Given the description of an element on the screen output the (x, y) to click on. 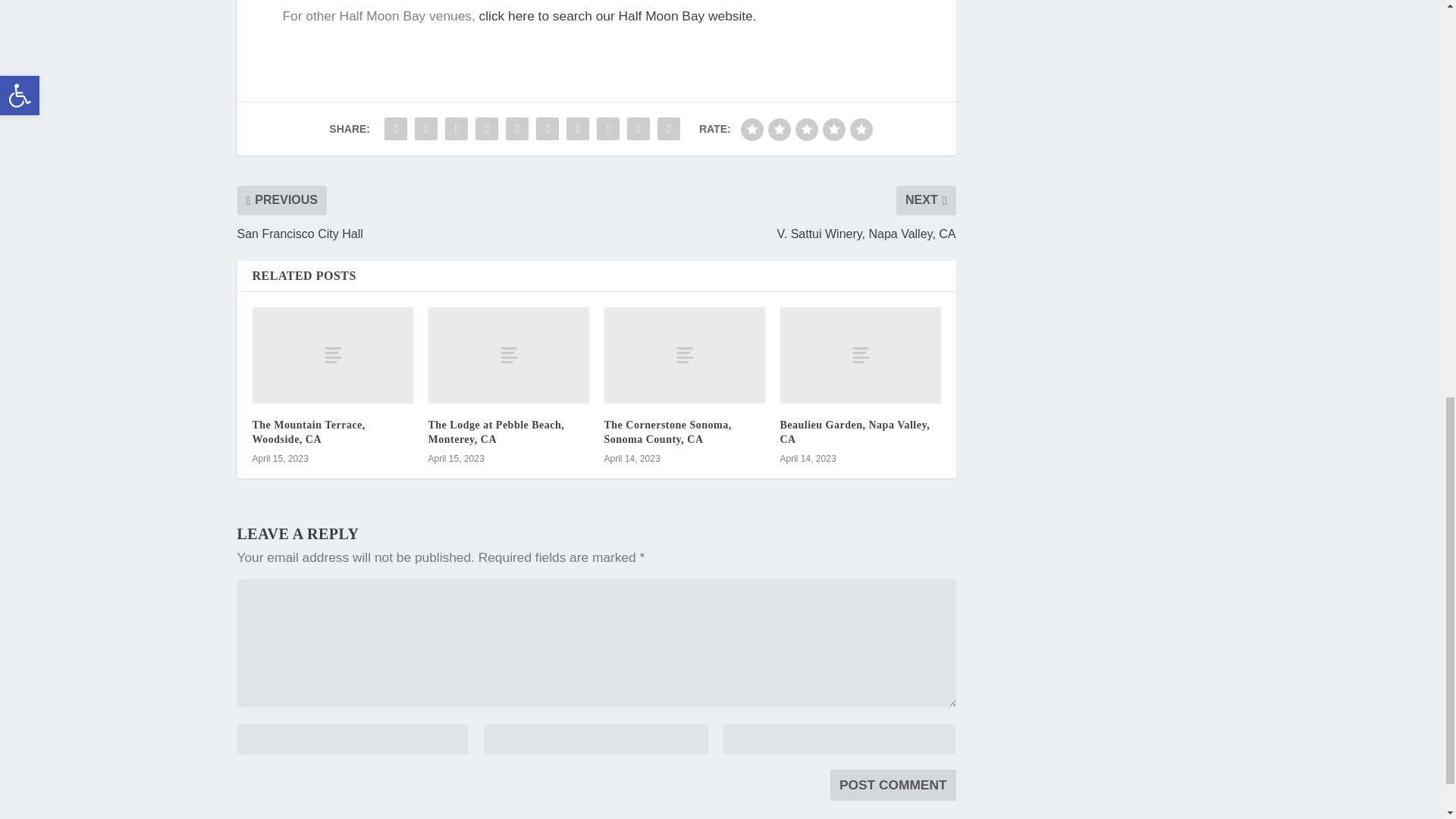
Share "The Ritz-Carlton, Half Moon Bay, CA" via Facebook (395, 128)
Share "The Ritz-Carlton, Half Moon Bay, CA" via Email (638, 128)
Share "The Ritz-Carlton, Half Moon Bay, CA" via LinkedIn (547, 128)
Share "The Ritz-Carlton, Half Moon Bay, CA" via Tumblr (486, 128)
Share "The Ritz-Carlton, Half Moon Bay, CA" via Stumbleupon (607, 128)
Post Comment (892, 784)
Share "The Ritz-Carlton, Half Moon Bay, CA" via Pinterest (517, 128)
Share "The Ritz-Carlton, Half Moon Bay, CA" via Buffer (577, 128)
Share "The Ritz-Carlton, Half Moon Bay, CA" via Twitter (425, 128)
